Given the description of an element on the screen output the (x, y) to click on. 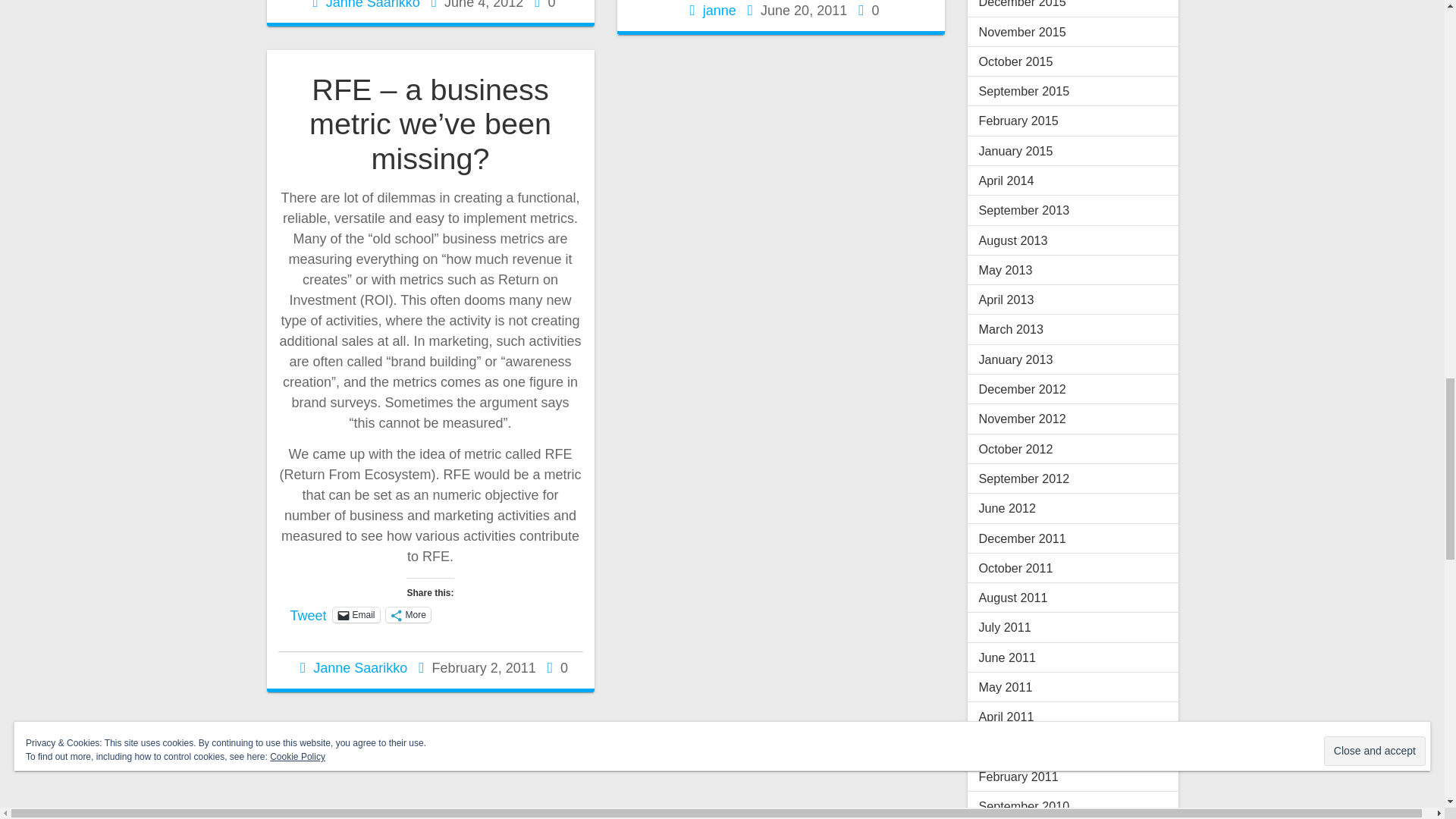
Posts by Janne Saarikko (373, 4)
